Given the description of an element on the screen output the (x, y) to click on. 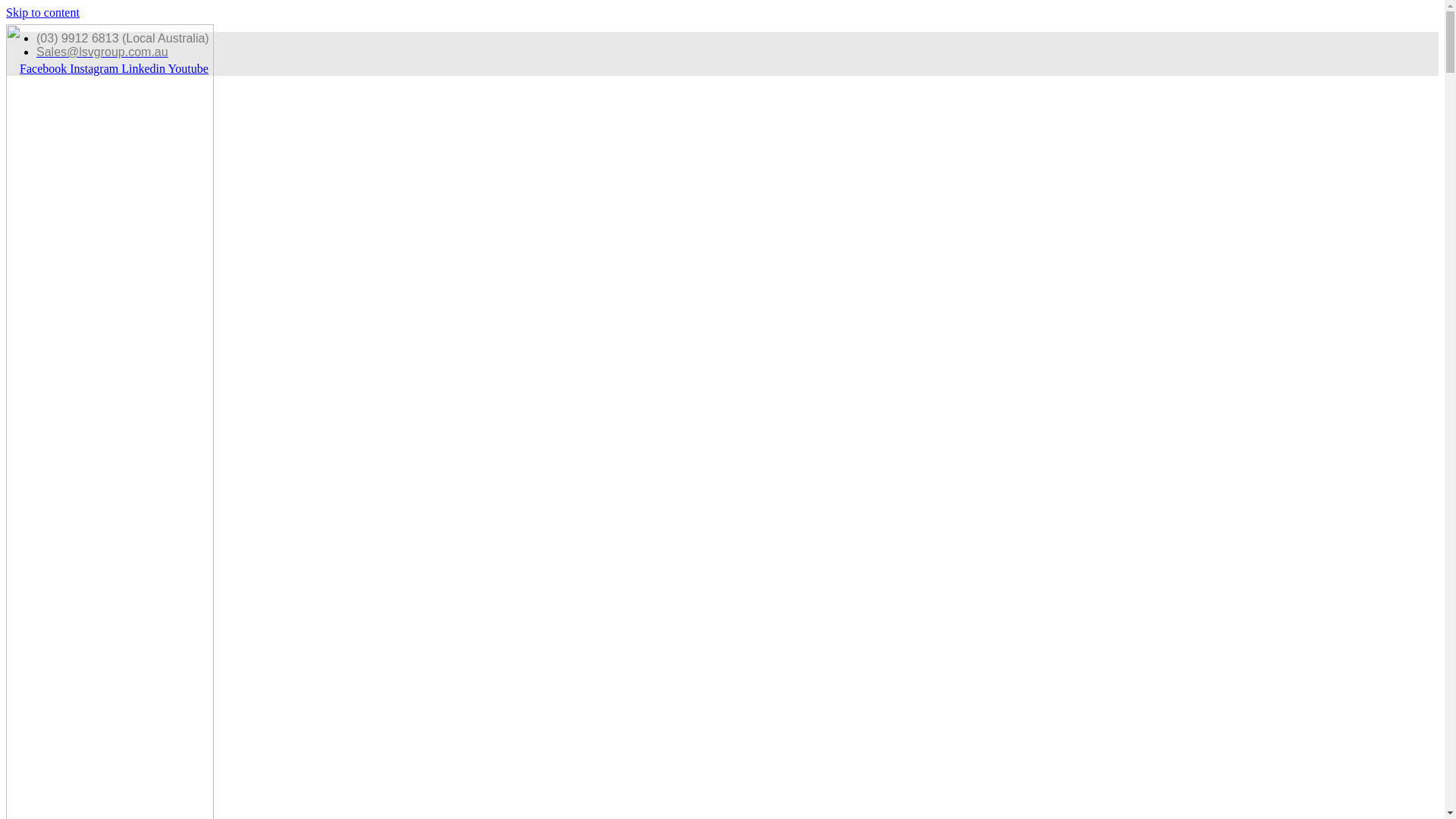
Youtube Element type: text (187, 68)
Skip to content Element type: text (42, 12)
Linkedin Element type: text (144, 68)
Instagram Element type: text (95, 68)
Facebook Element type: text (44, 68)
Sales@lsvgroup.com.au Element type: text (102, 51)
